Given the description of an element on the screen output the (x, y) to click on. 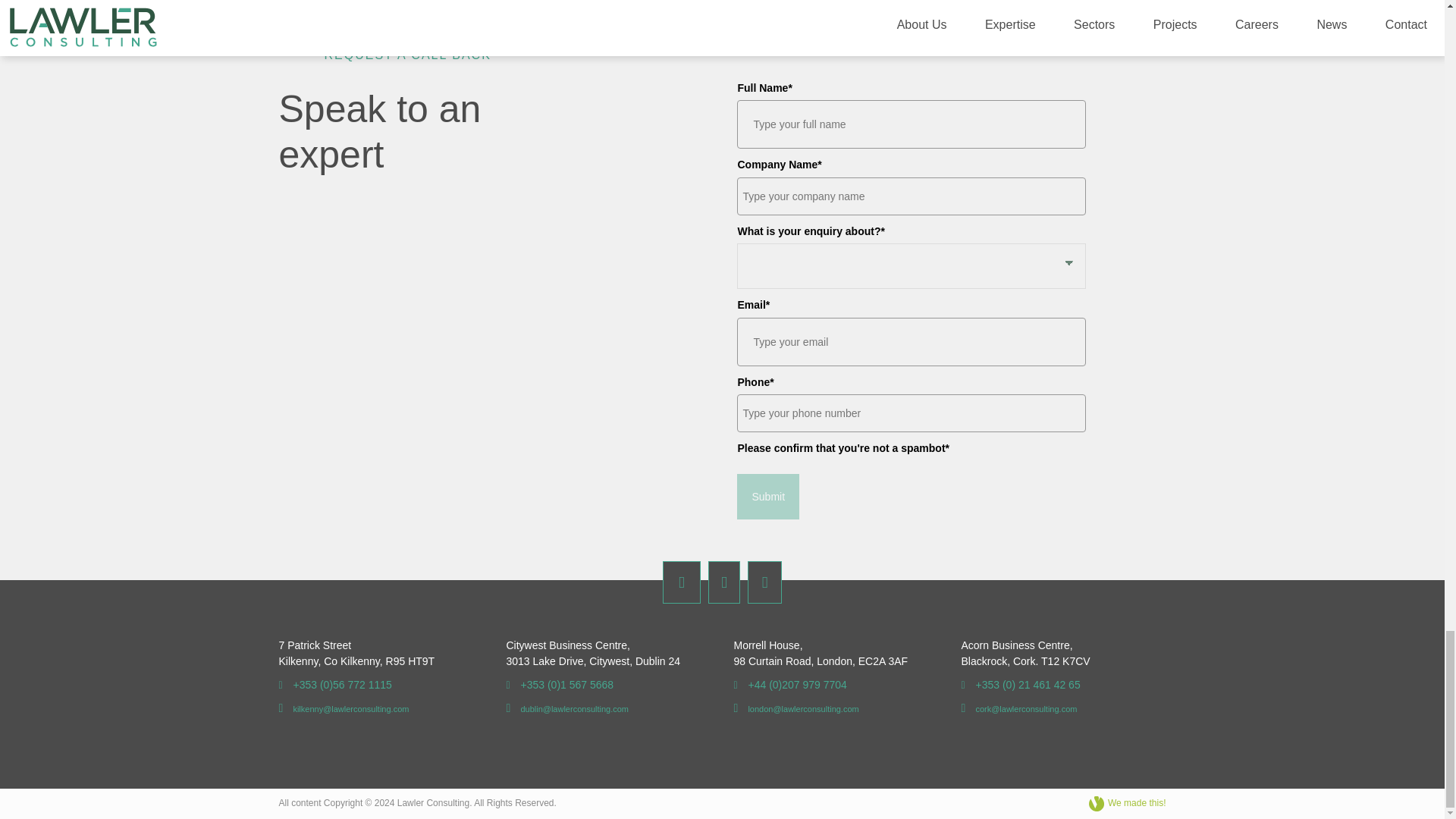
Link to email Lawler Consulting (567, 708)
Link to email Lawler Consulting (344, 708)
Link to call Dublin Office (560, 684)
Link to call Kilkenny Office (335, 684)
Link to call London Office (790, 684)
Link to Lawler Consulting Facebook Page (681, 582)
